Given the description of an element on the screen output the (x, y) to click on. 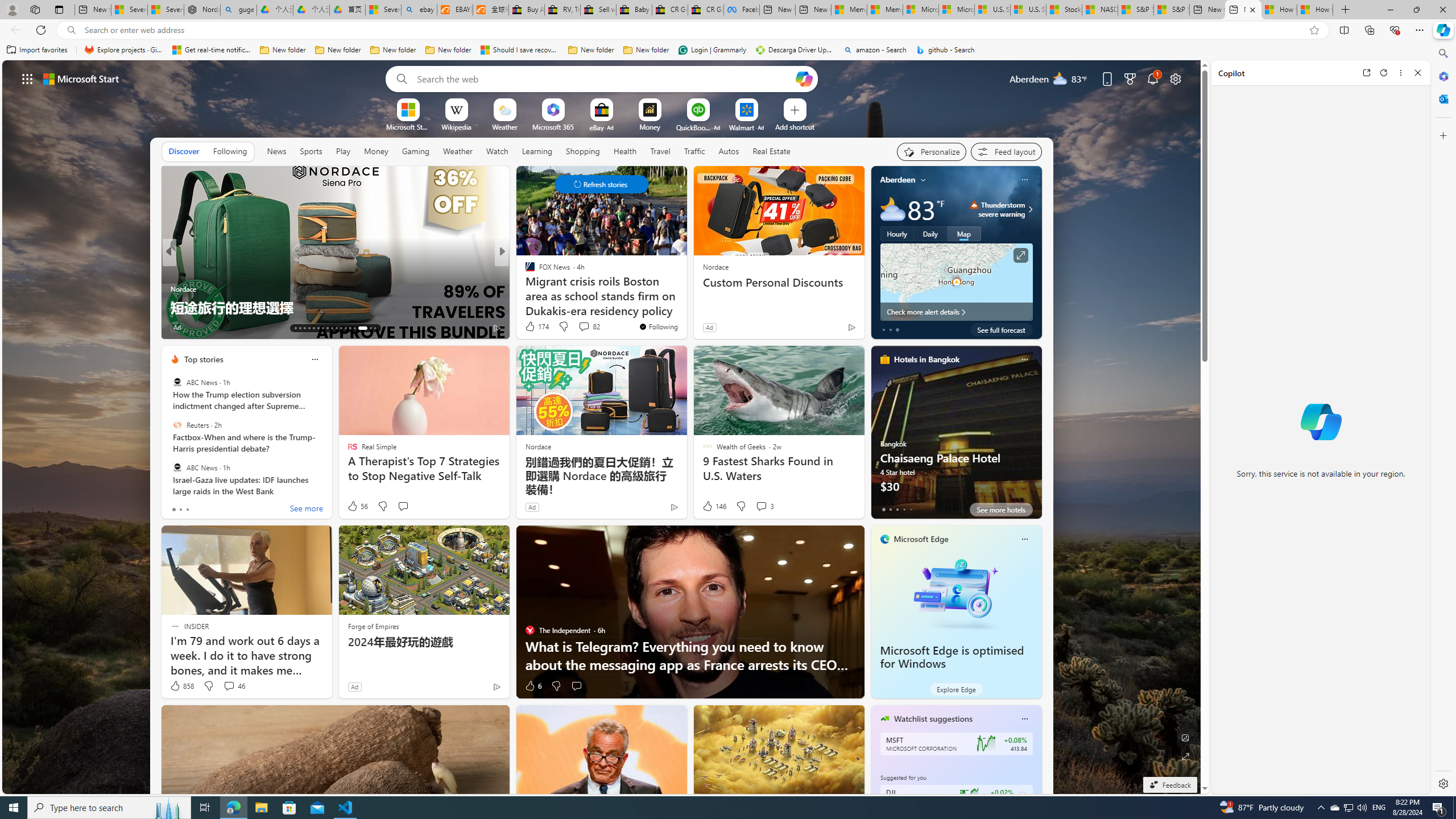
Open Copilot (803, 78)
Edit Background (1185, 737)
Reuters (176, 424)
Microsoft Edge (921, 538)
See more (148, 179)
tab-2 (897, 509)
Baby Keepsakes & Announcements for sale | eBay (633, 9)
Gaming (415, 151)
AutomationID: tab-13 (295, 328)
Settings (1442, 783)
You're following FOX News (657, 326)
